Given the description of an element on the screen output the (x, y) to click on. 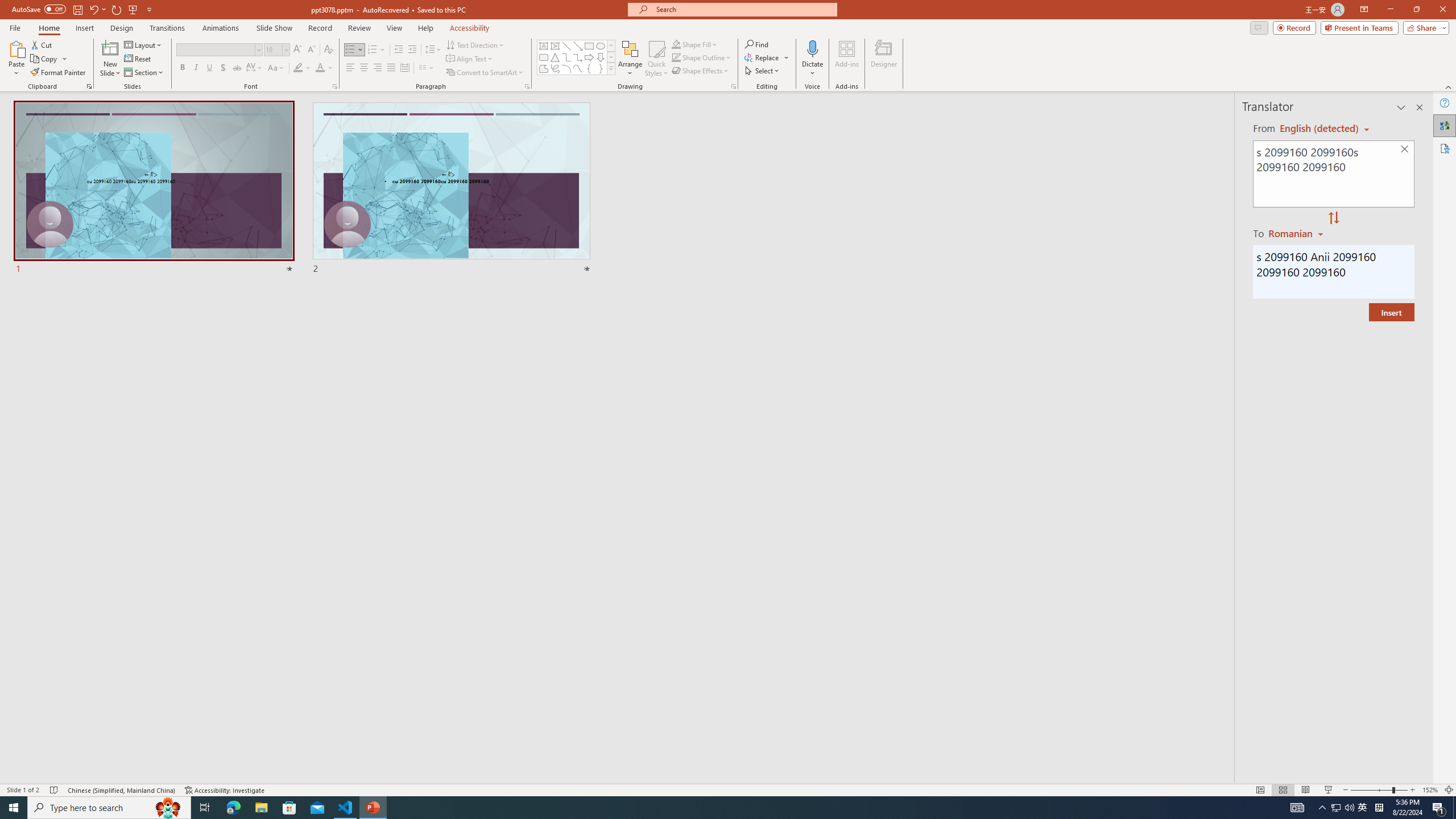
Bold (182, 67)
Arrange (630, 58)
Justify (390, 67)
Freeform: Shape (543, 68)
Align Text (470, 58)
Shape Outline (701, 56)
